Given the description of an element on the screen output the (x, y) to click on. 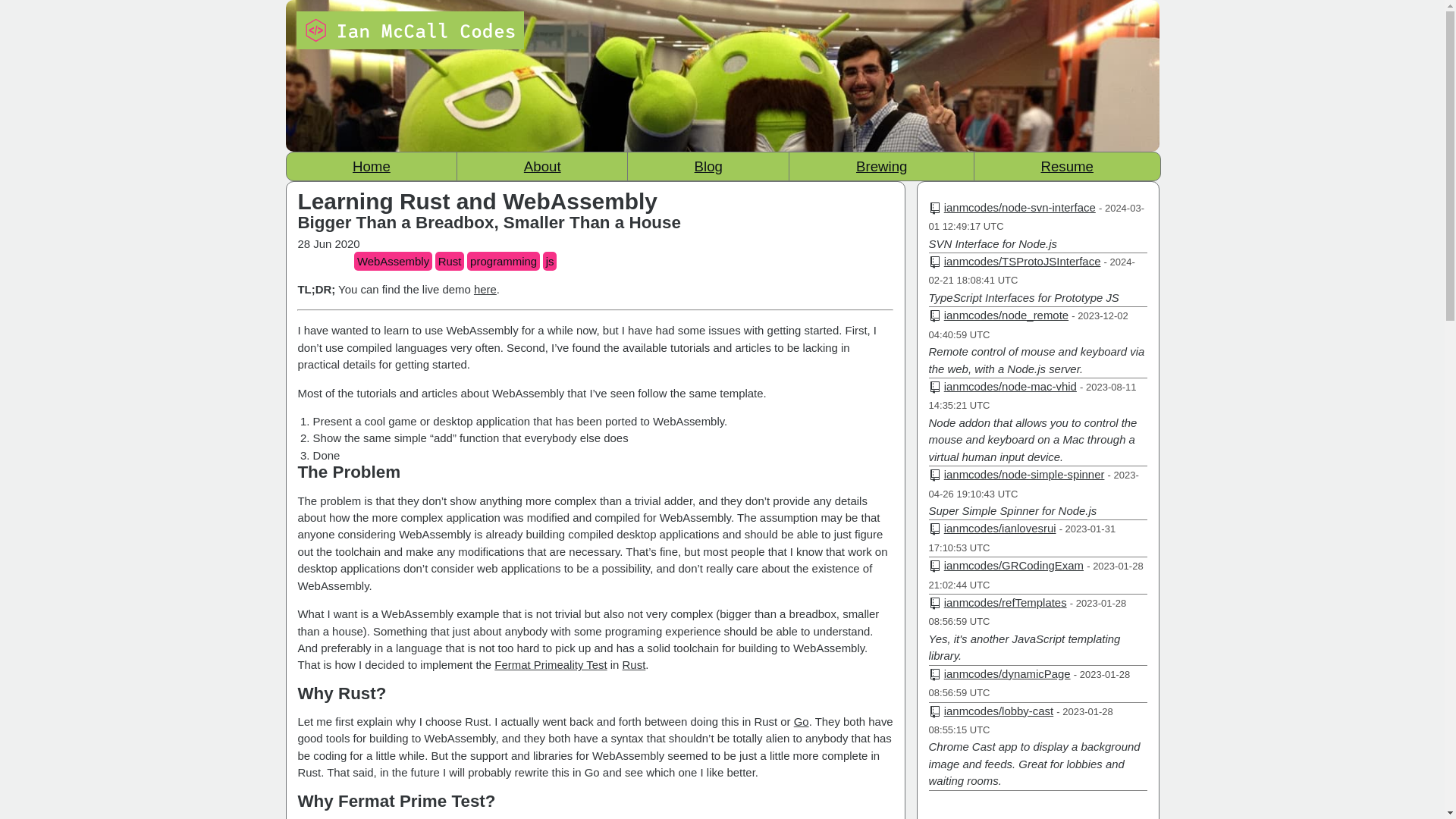
Last updated (1033, 483)
Last updated (1020, 720)
Rust (634, 664)
Last updated (1022, 537)
About (542, 166)
Last updated (1029, 683)
Last updated (1031, 270)
Last updated (1028, 324)
Last updated (1027, 612)
Last updated (1036, 216)
Last updated (1035, 574)
Home (371, 166)
Fermat Primeality Test (551, 664)
Last updated (1032, 396)
here (485, 288)
